Given the description of an element on the screen output the (x, y) to click on. 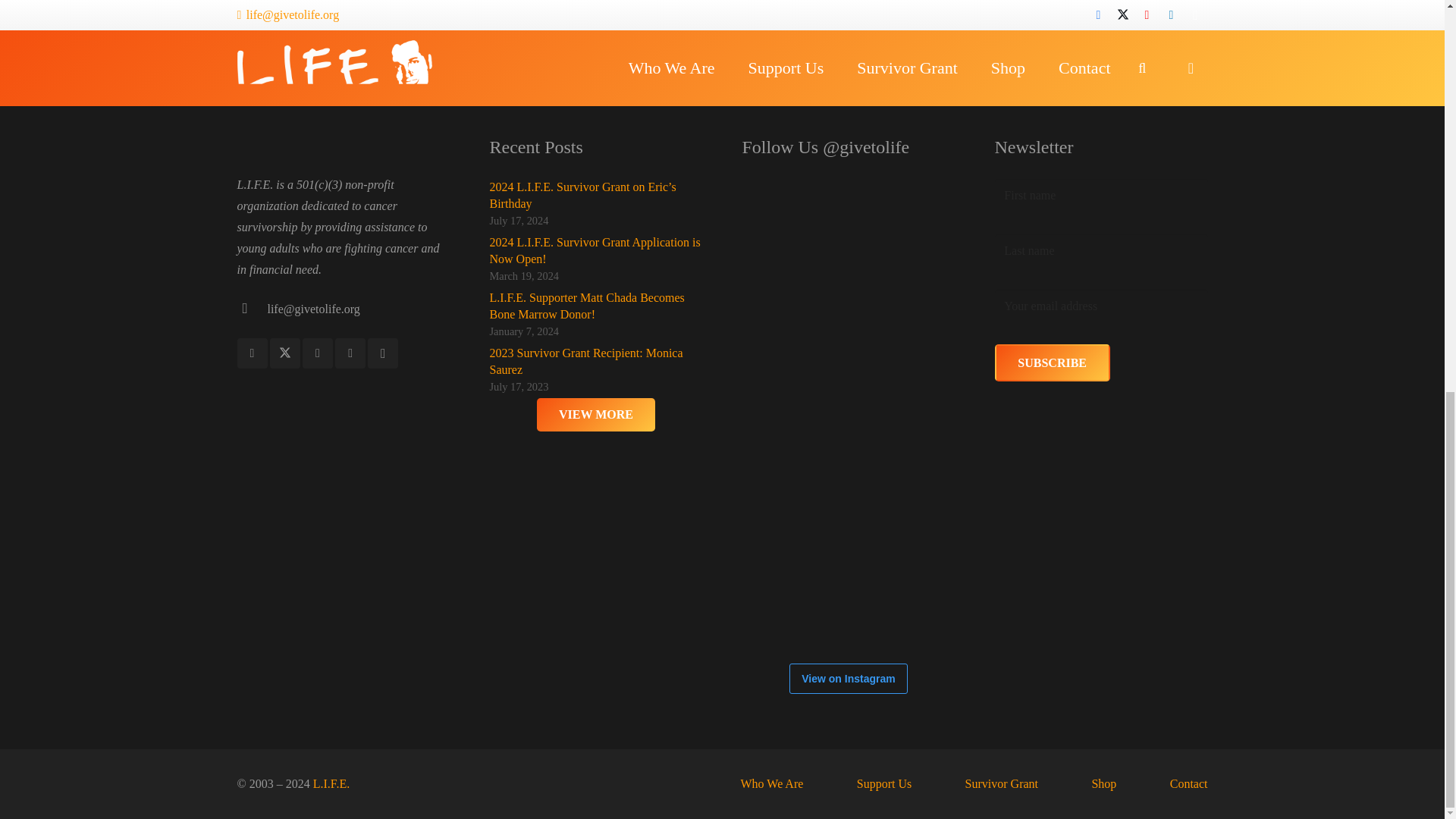
Facebook (250, 353)
Subscribe (1051, 362)
LinkedIn (349, 353)
Twitter (284, 353)
Instagram (382, 353)
YouTube (317, 353)
